Given the description of an element on the screen output the (x, y) to click on. 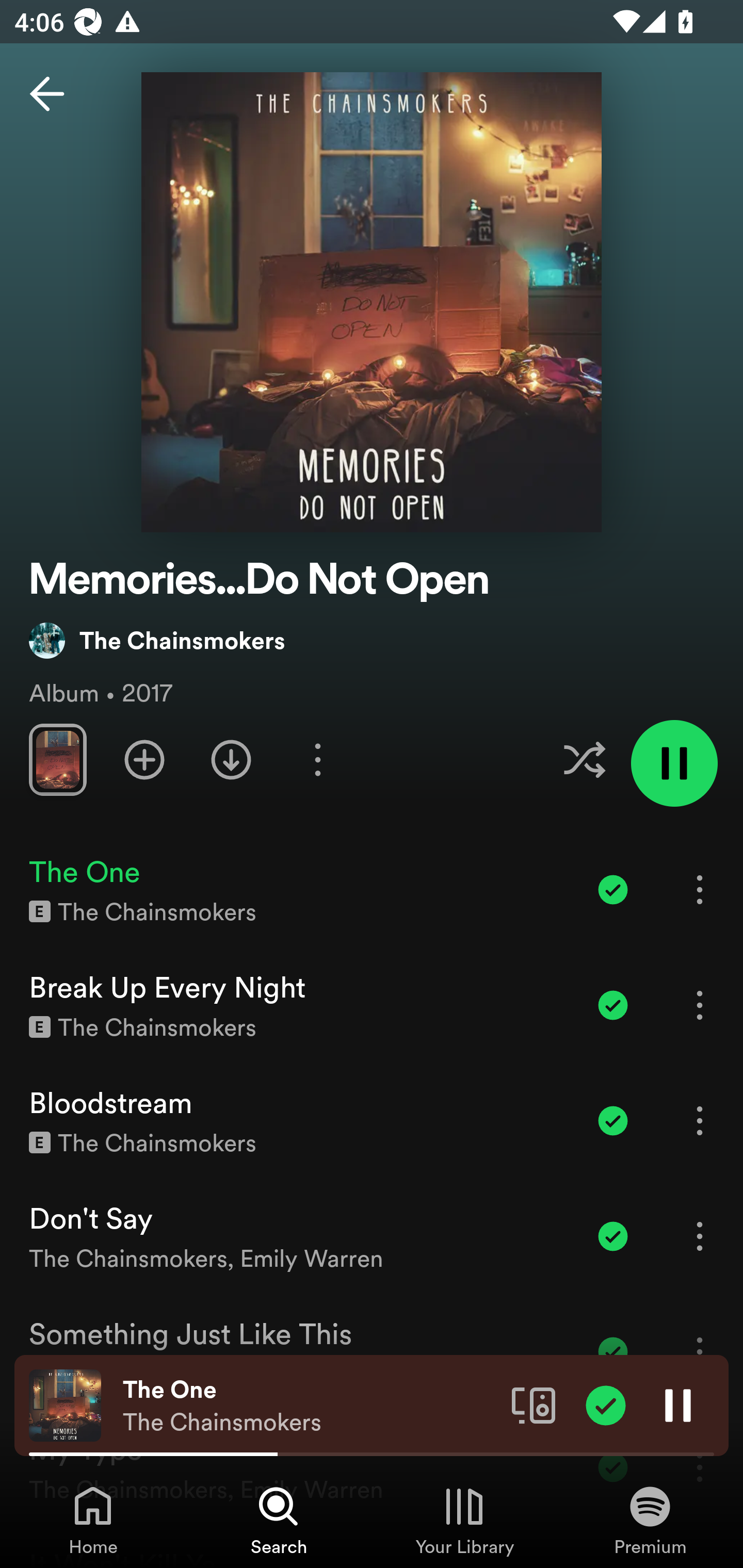
Back (46, 93)
The Chainsmokers (156, 640)
Swipe through previews of tracks from this album. (57, 759)
Add playlist to Your Library (144, 759)
Download (230, 759)
More options for playlist Memories...Do Not Open (317, 759)
Enable shuffle for this playlist (583, 759)
Pause playlist (674, 763)
Item added (612, 889)
More options for song The One (699, 889)
Item added (612, 1004)
More options for song Break Up Every Night (699, 1004)
Item added (612, 1120)
More options for song Bloodstream (699, 1120)
Item added (612, 1236)
More options for song Don't Say (699, 1236)
The One The Chainsmokers (309, 1405)
The cover art of the currently playing track (64, 1404)
Connect to a device. Opens the devices menu (533, 1404)
Item added (605, 1404)
Pause (677, 1404)
Home, Tab 1 of 4 Home Home (92, 1519)
Search, Tab 2 of 4 Search Search (278, 1519)
Your Library, Tab 3 of 4 Your Library Your Library (464, 1519)
Premium, Tab 4 of 4 Premium Premium (650, 1519)
